Given the description of an element on the screen output the (x, y) to click on. 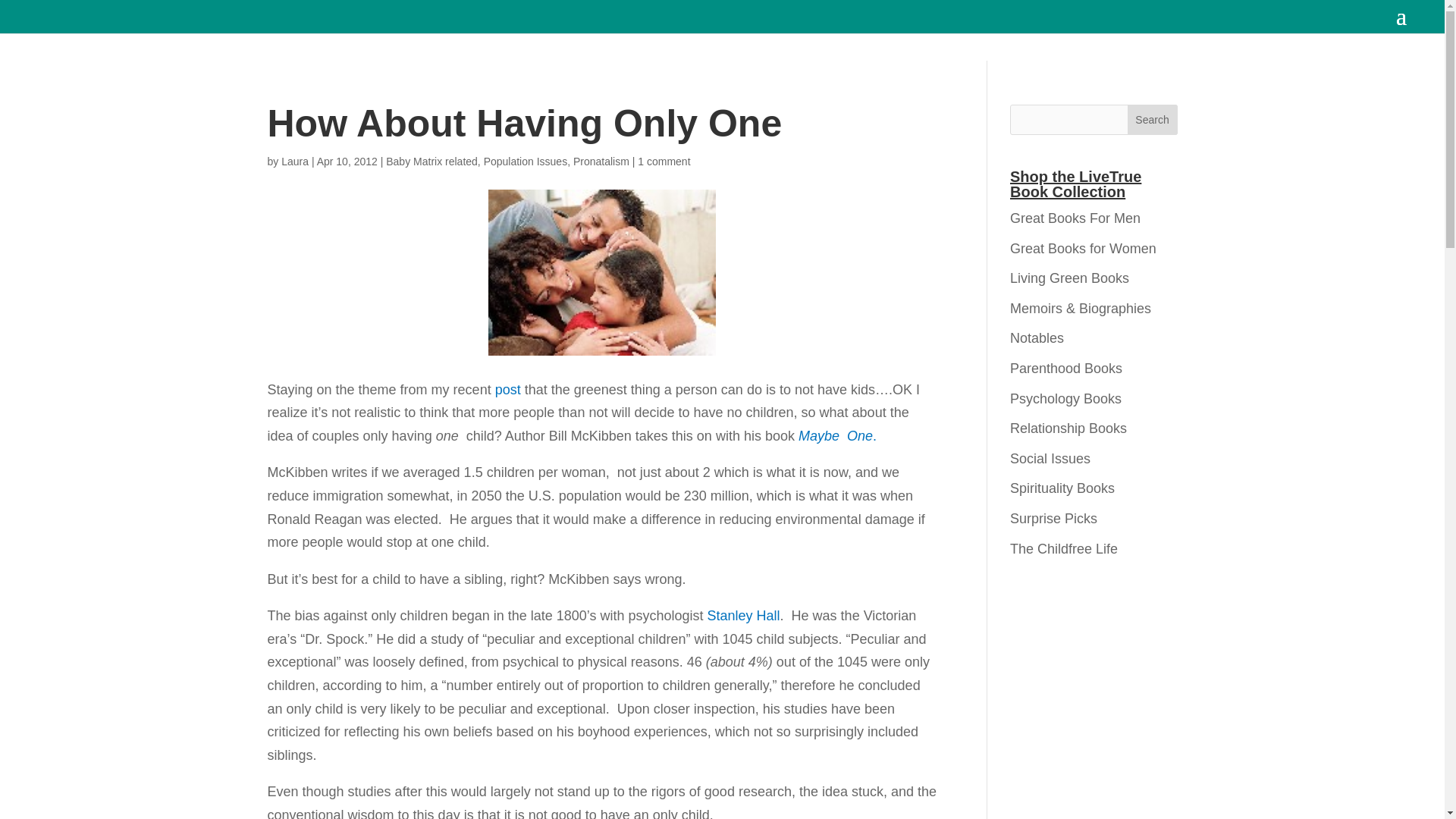
Great Books for Women (1083, 248)
Notables (1037, 337)
Living Green Books (1069, 278)
Laura (294, 161)
Posts by Laura (294, 161)
Parenthood Books (1066, 368)
Maybe  One. (836, 435)
Pronatalism (600, 161)
Population Issues (525, 161)
Baby Matrix related (431, 161)
